Given the description of an element on the screen output the (x, y) to click on. 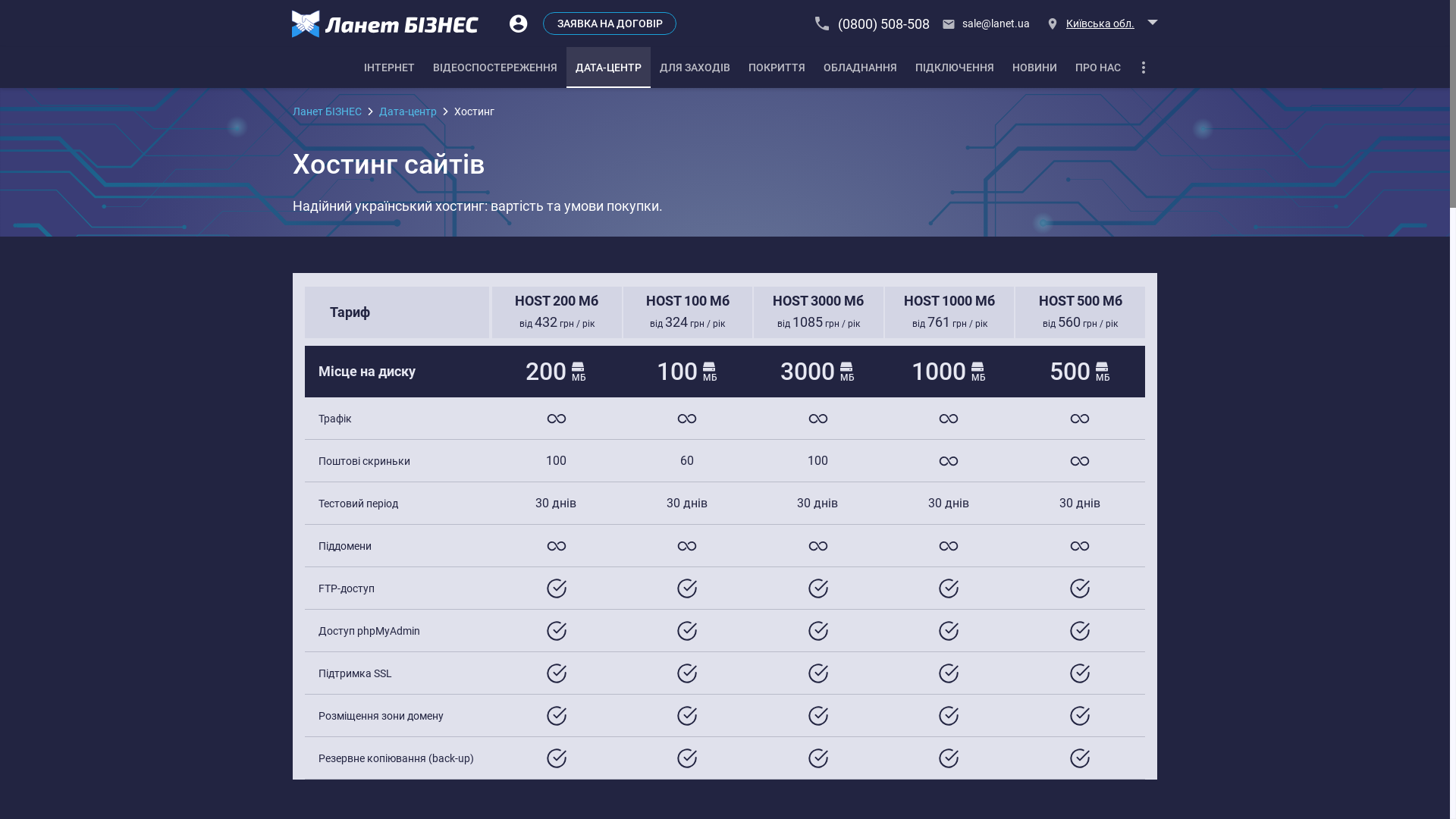
(0800) 508-508 Element type: text (872, 23)
sale@lanet.ua Element type: text (987, 23)
